Given the description of an element on the screen output the (x, y) to click on. 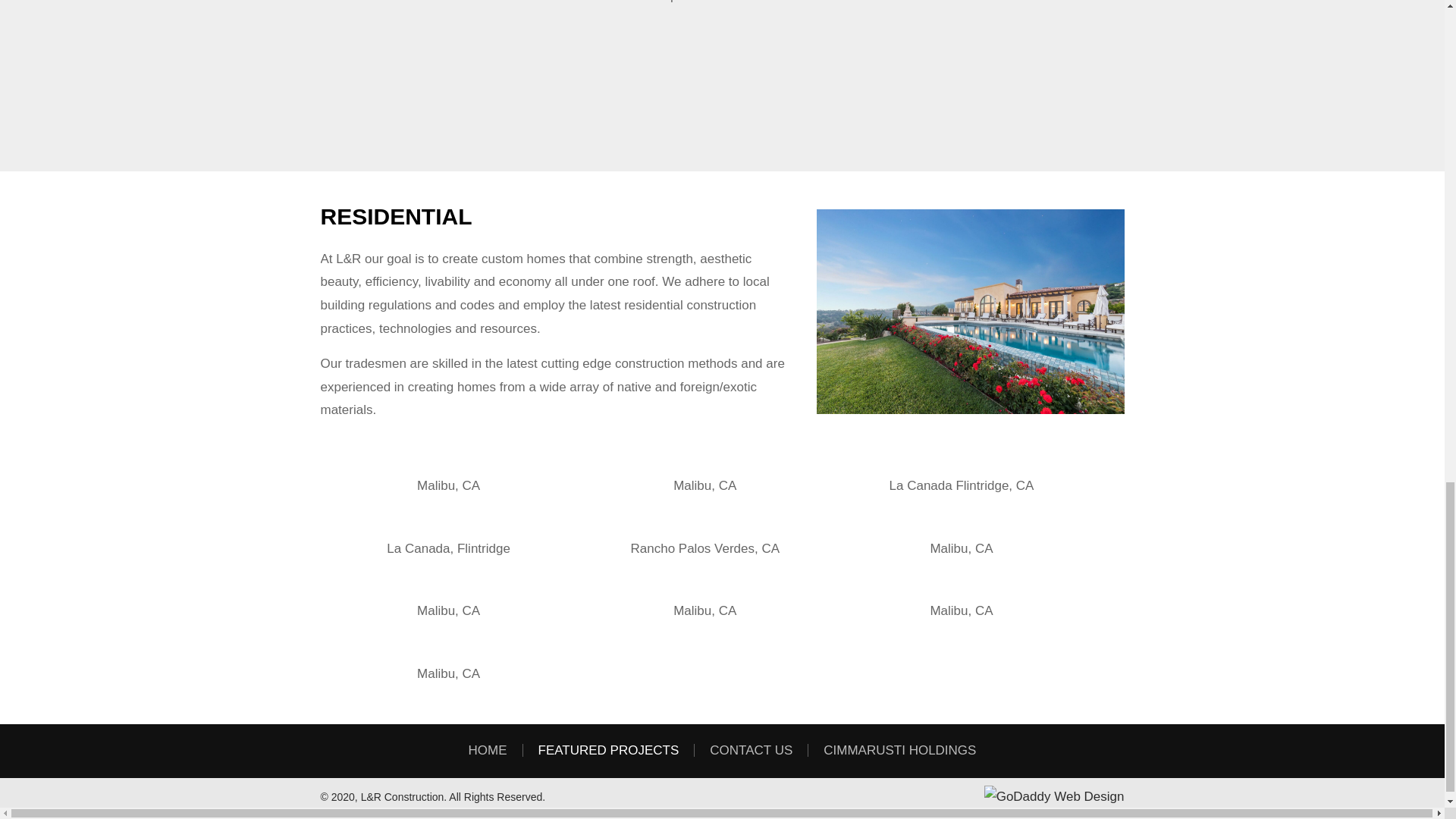
HOME (487, 749)
CONTACT US (751, 749)
CIMMARUSTI HOLDINGS (899, 749)
11.10.10 030 (704, 463)
-11.10.10 043 (448, 463)
Selva-24 (448, 42)
FEATURED PROJECTS (608, 749)
